Given the description of an element on the screen output the (x, y) to click on. 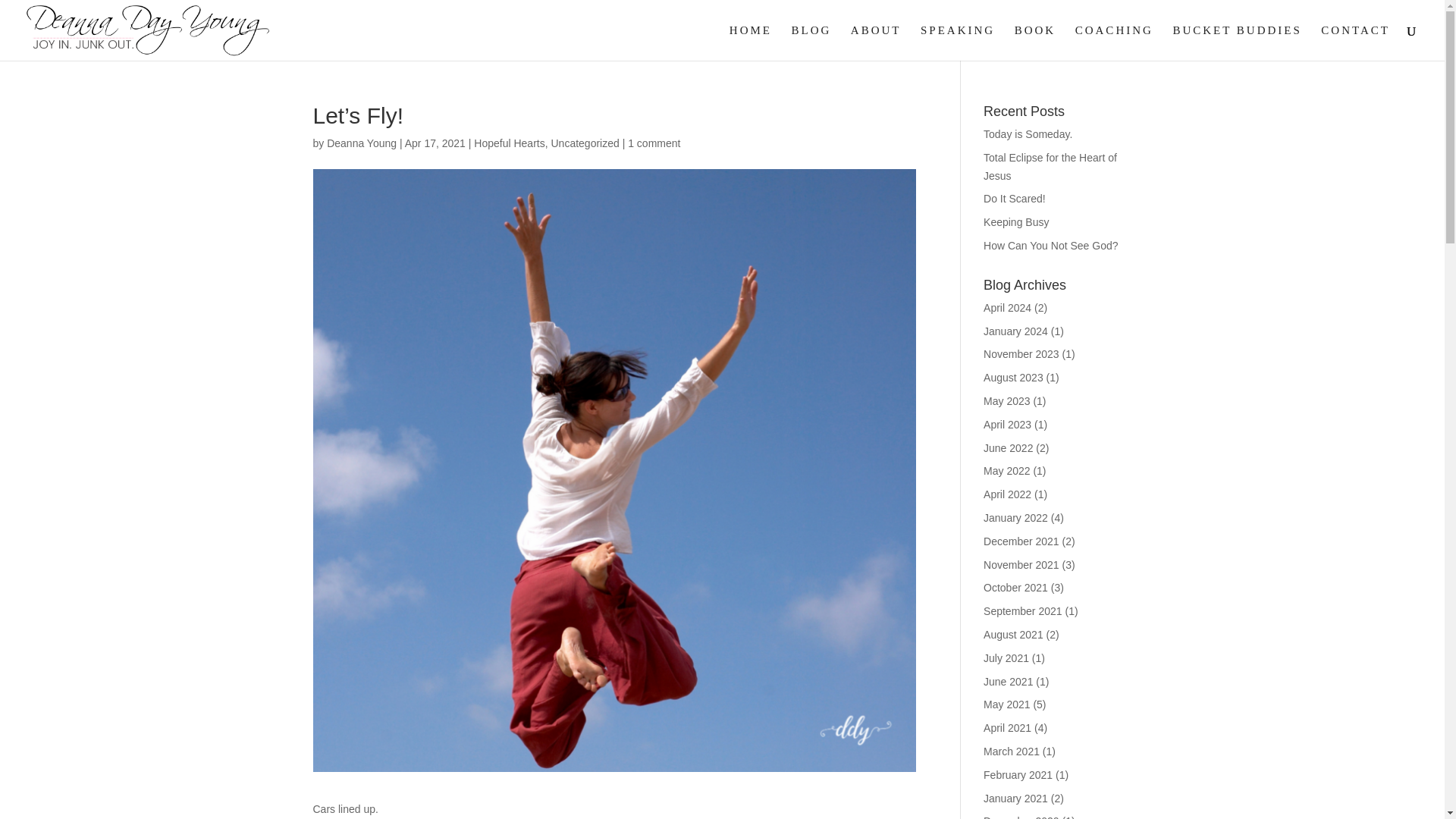
Today is Someday. (1027, 133)
January 2022 (1016, 517)
November 2023 (1021, 354)
BOOK (1035, 42)
BUCKET BUDDIES (1236, 42)
April 2022 (1007, 494)
COACHING (1114, 42)
BLOG (810, 42)
SPEAKING (957, 42)
Hopeful Hearts (509, 143)
April 2023 (1007, 424)
Posts by Deanna Young (361, 143)
How Can You Not See God? (1051, 245)
Deanna Young (361, 143)
April 2024 (1007, 307)
